Given the description of an element on the screen output the (x, y) to click on. 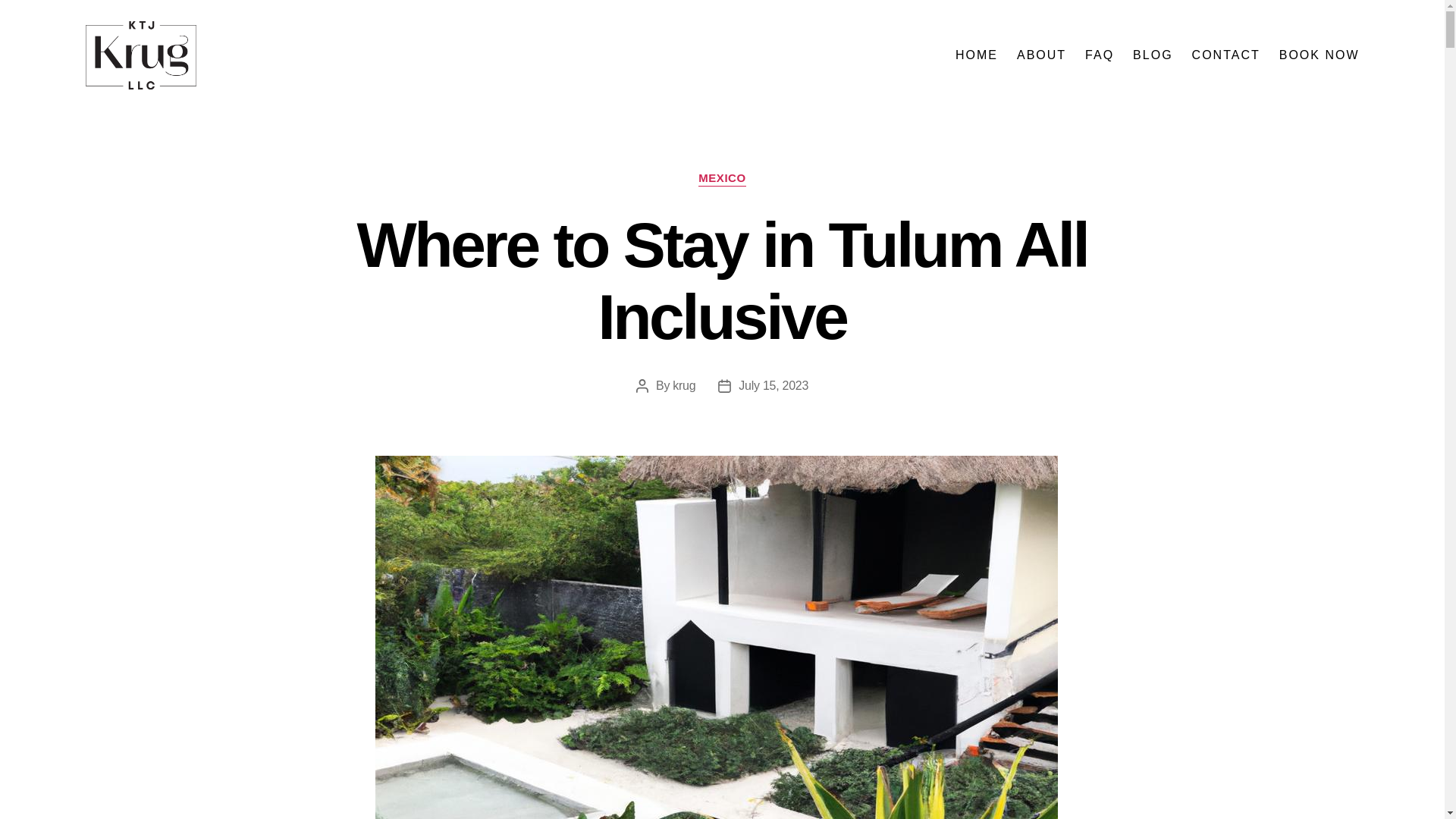
BLOG (1152, 54)
ABOUT (1040, 54)
July 15, 2023 (773, 385)
CONTACT (1226, 54)
BOOK NOW (1319, 54)
krug (683, 385)
MEXICO (721, 178)
FAQ (1098, 54)
HOME (976, 54)
